Given the description of an element on the screen output the (x, y) to click on. 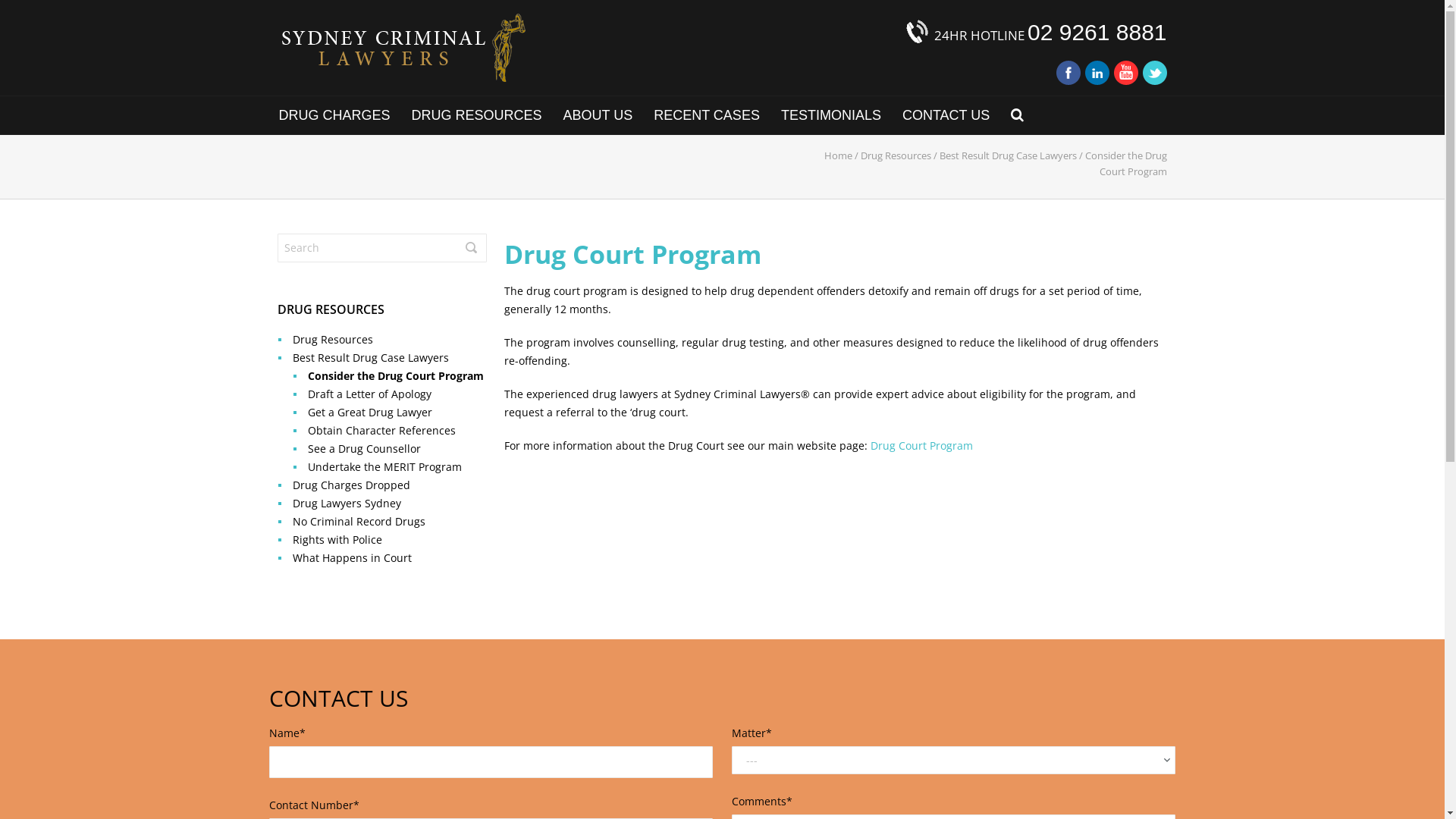
TESTIMONIALS Element type: text (830, 114)
What Happens in Court Element type: text (351, 557)
Obtain Character References Element type: text (381, 430)
Draft a Letter of Apology Element type: text (369, 393)
Home Element type: text (837, 155)
Drug Resources Element type: text (894, 155)
DRUG CHARGES Element type: text (333, 114)
Drug Court Program Element type: text (921, 445)
Drug Charges Dropped Element type: text (351, 484)
Drug Lawyers Sydney Element type: text (346, 502)
DRUG RESOURCES Element type: text (476, 114)
Best Result Drug Case Lawyers Element type: text (370, 357)
Best Result Drug Case Lawyers Element type: text (1007, 155)
RECENT CASES Element type: text (706, 114)
No Criminal Record Drugs Element type: text (358, 521)
02 9261 8881 Element type: text (1097, 31)
See a Drug Counsellor Element type: text (363, 448)
Undertake the MERIT Program Element type: text (384, 466)
Drug Resources Element type: text (332, 339)
ABOUT US Element type: text (597, 114)
Rights with Police Element type: text (337, 539)
Consider the Drug Court Program Element type: text (395, 375)
Get a Great Drug Lawyer Element type: text (369, 411)
CONTACT US Element type: text (945, 114)
